Given the description of an element on the screen output the (x, y) to click on. 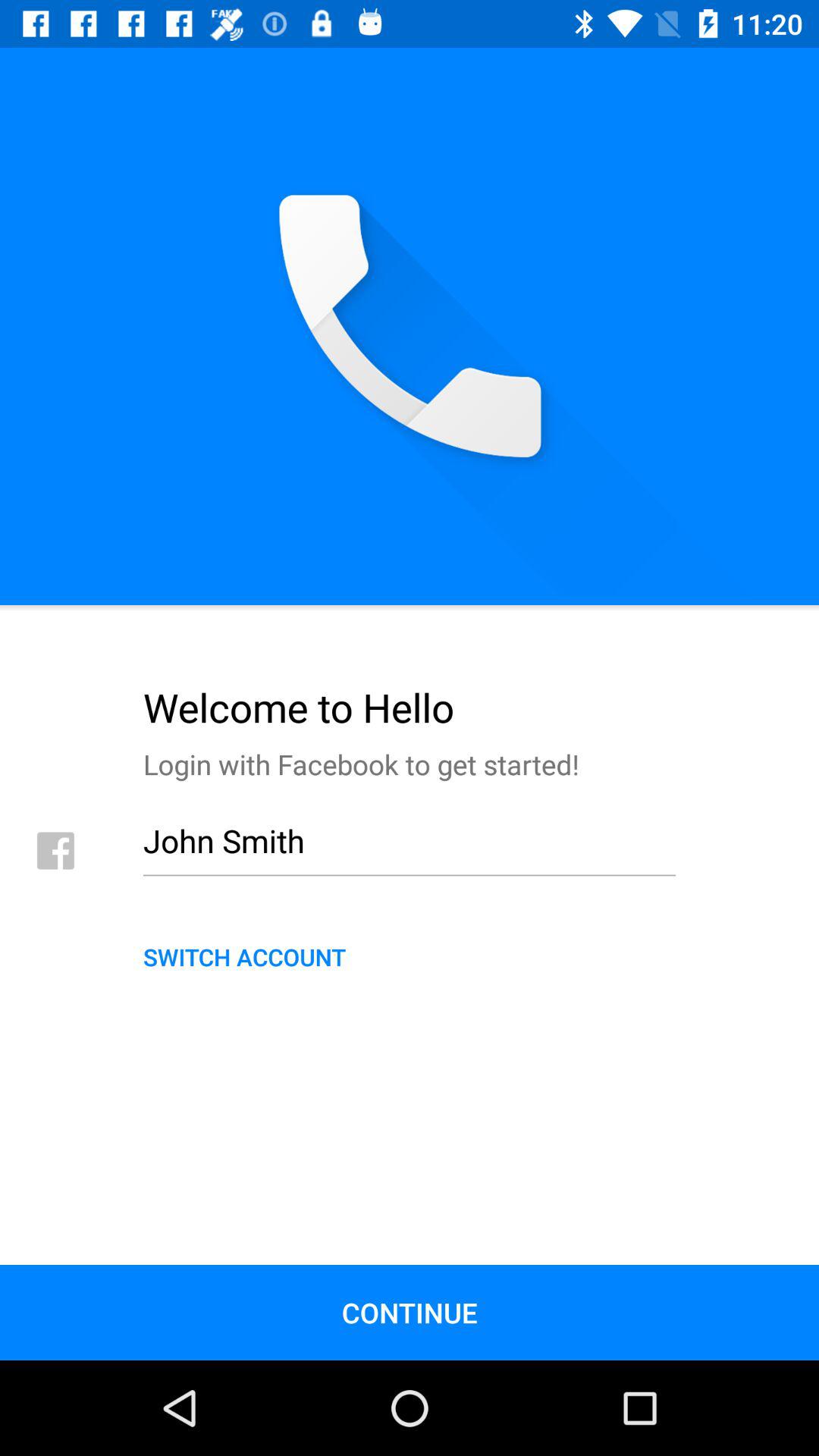
tap item above continue (409, 956)
